Given the description of an element on the screen output the (x, y) to click on. 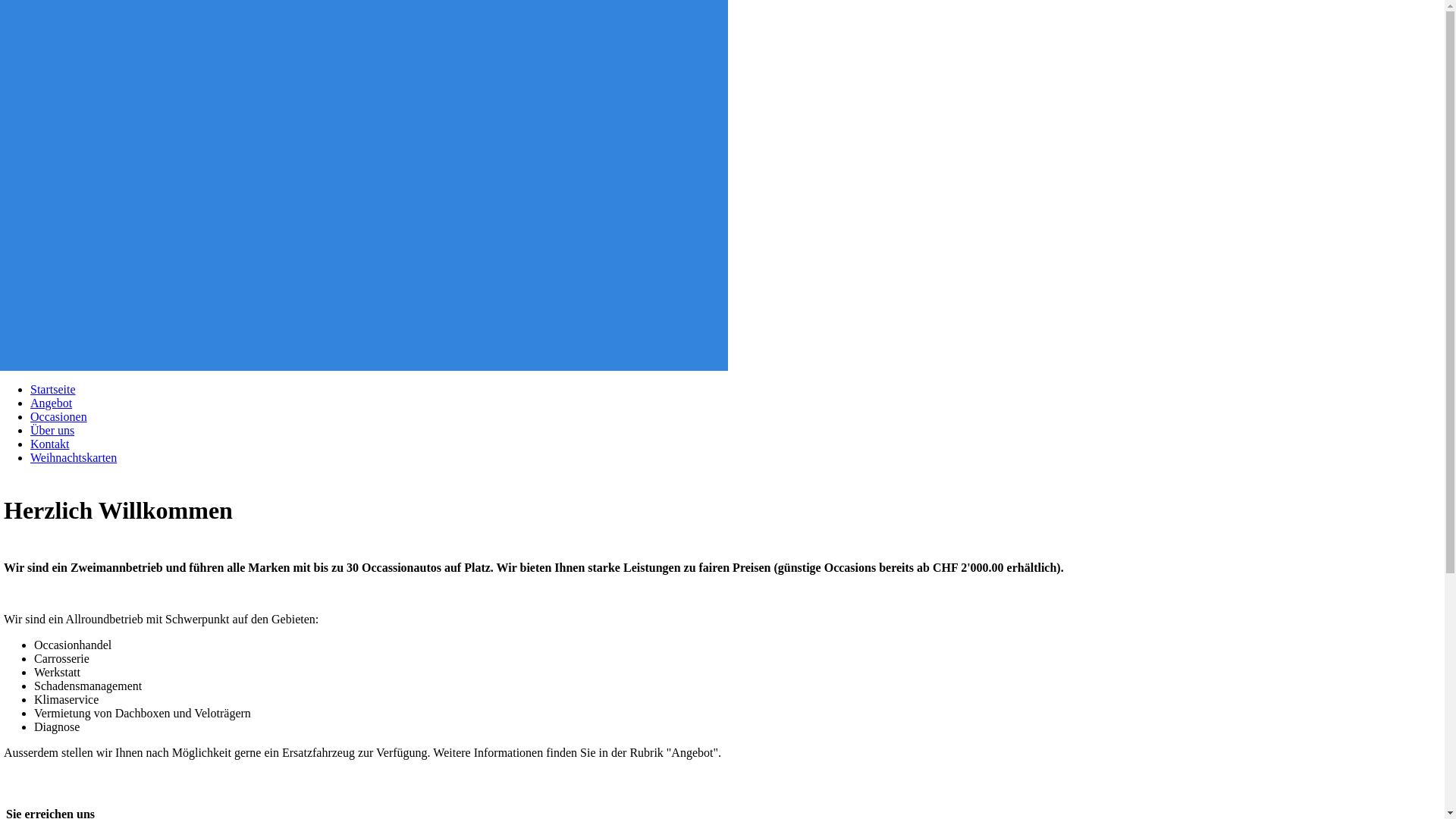
Angebot Element type: text (51, 402)
Occasionen Element type: text (58, 416)
Kontakt Element type: text (49, 443)
Weihnachtskarten Element type: text (73, 457)
Startseite Element type: text (52, 388)
